Given the description of an element on the screen output the (x, y) to click on. 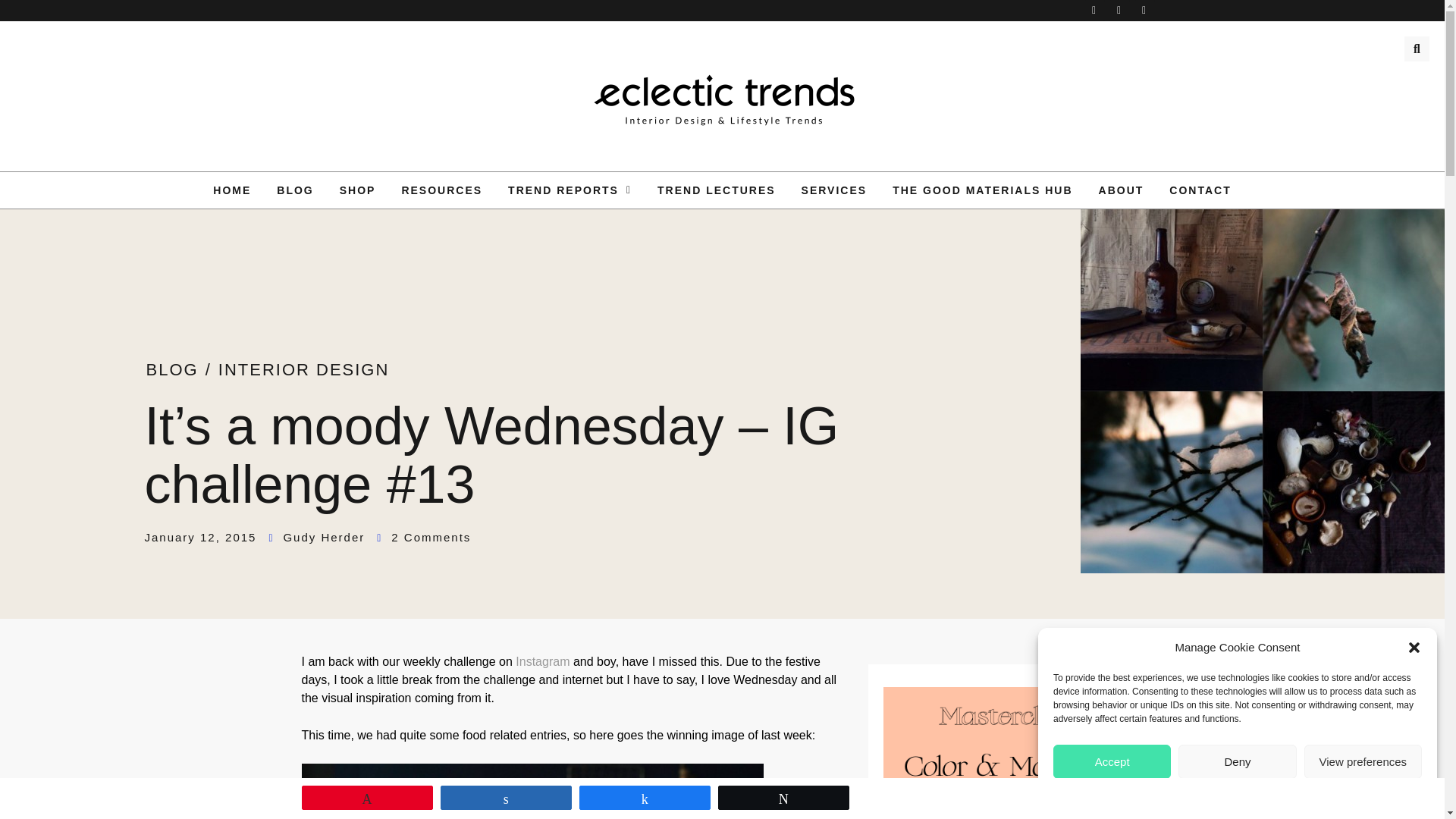
THE GOOD MATERIALS HUB (981, 189)
RESOURCES (441, 189)
SERVICES (834, 189)
TREND REPORTS (570, 189)
SHOP (357, 189)
BLOG (294, 189)
Cookies (1205, 793)
View preferences (1363, 761)
HOME (231, 189)
TREND LECTURES (717, 189)
CONTACT (1199, 189)
Deny (1236, 761)
ABOUT (1121, 189)
Privacy Policy (1256, 793)
Accept (1111, 761)
